Given the description of an element on the screen output the (x, y) to click on. 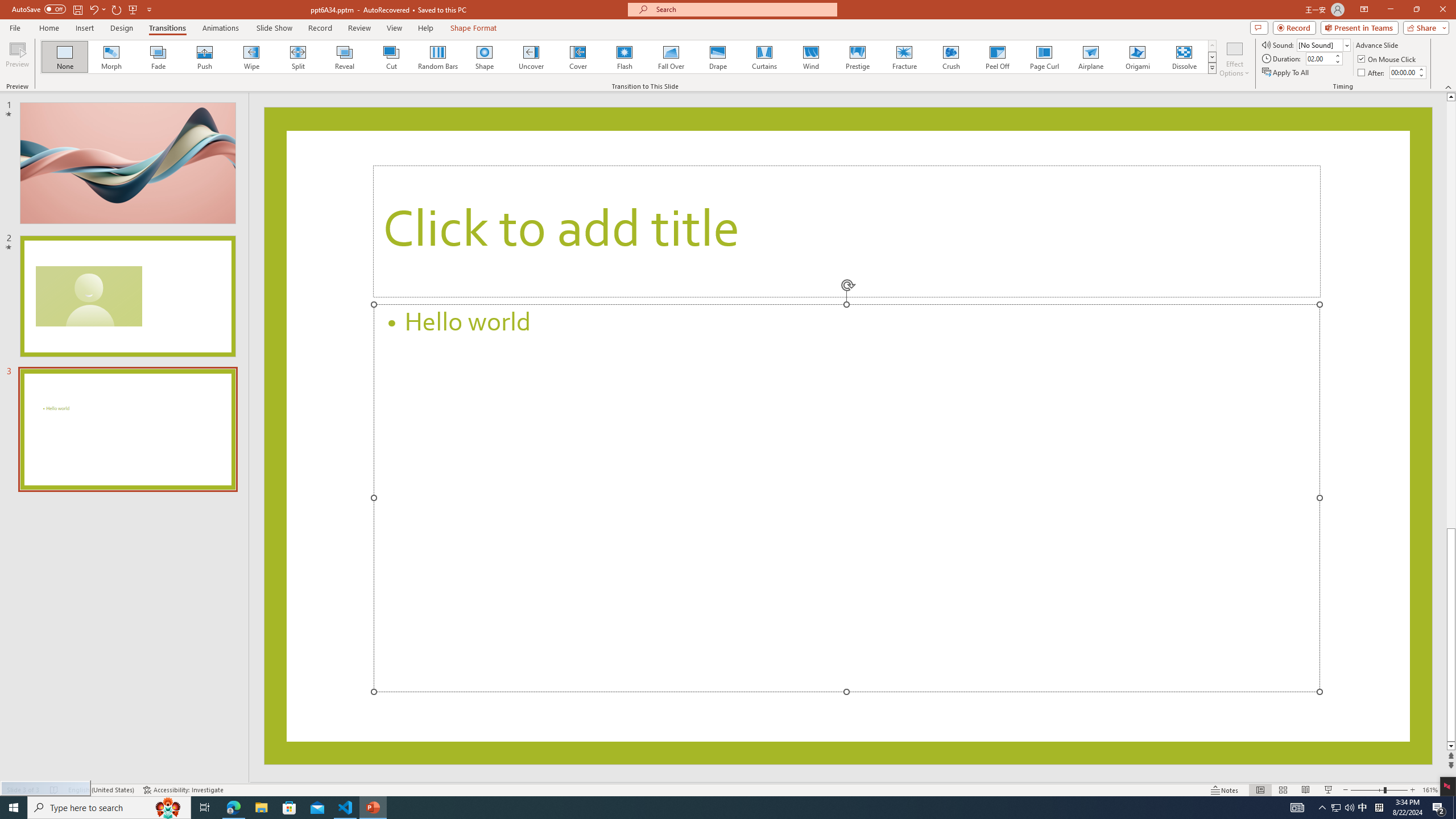
Fade (158, 56)
Sound (1324, 44)
Cover (577, 56)
Fall Over (670, 56)
Random Bars (437, 56)
Transition Effects (1212, 67)
